Given the description of an element on the screen output the (x, y) to click on. 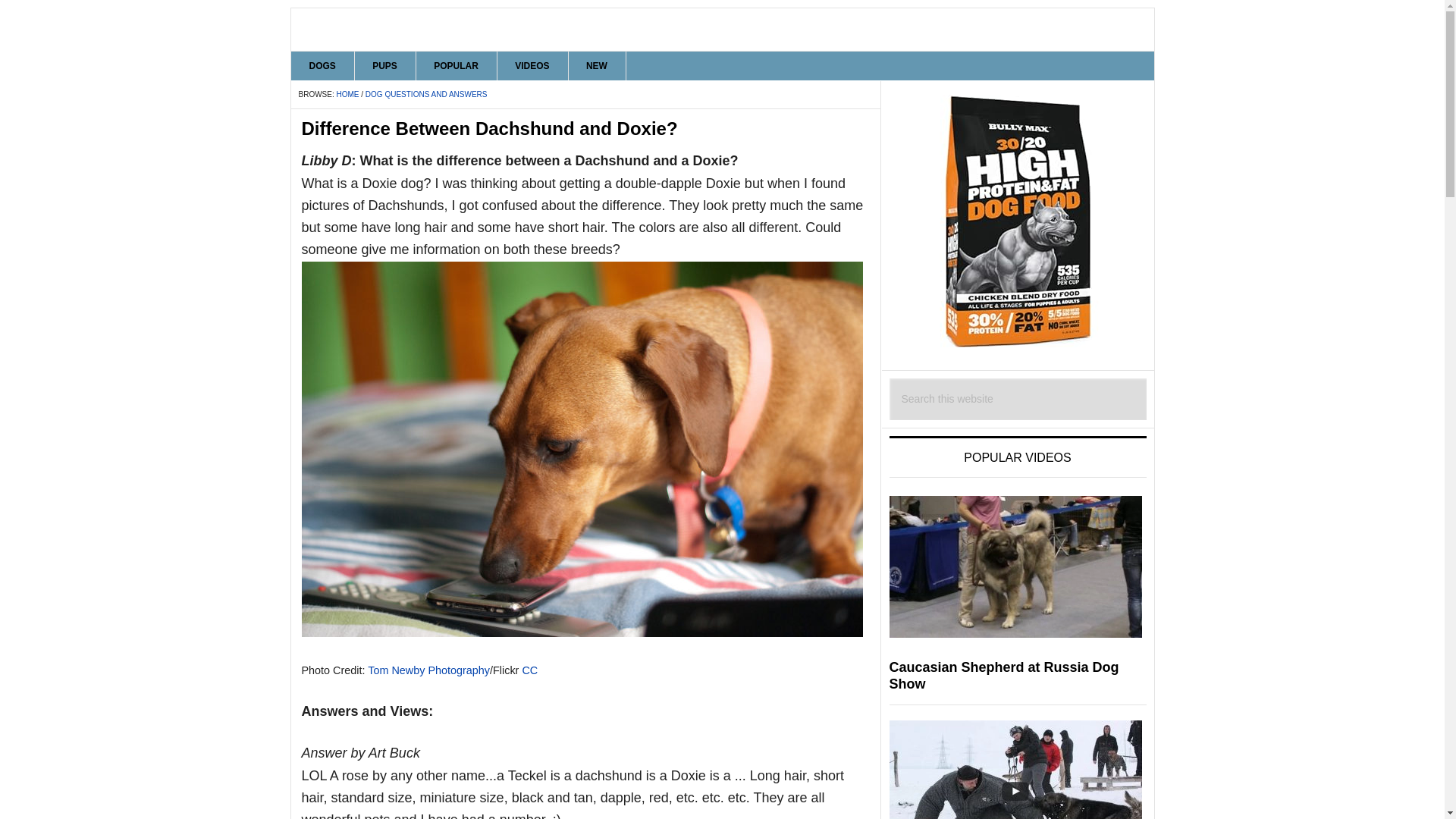
DOG QUESTIONS AND ANSWERS (426, 94)
CC (529, 670)
Tom Newby Photography (428, 670)
DOGS (323, 65)
HOME (347, 94)
RUSSIAN DOG (722, 29)
NEW (596, 65)
BUY IT ON AMAZON ! (1017, 221)
VIDEOS (531, 65)
PUPS (384, 65)
Caucasian Shepherd at Russia Dog Show (1003, 675)
POPULAR (455, 65)
